Given the description of an element on the screen output the (x, y) to click on. 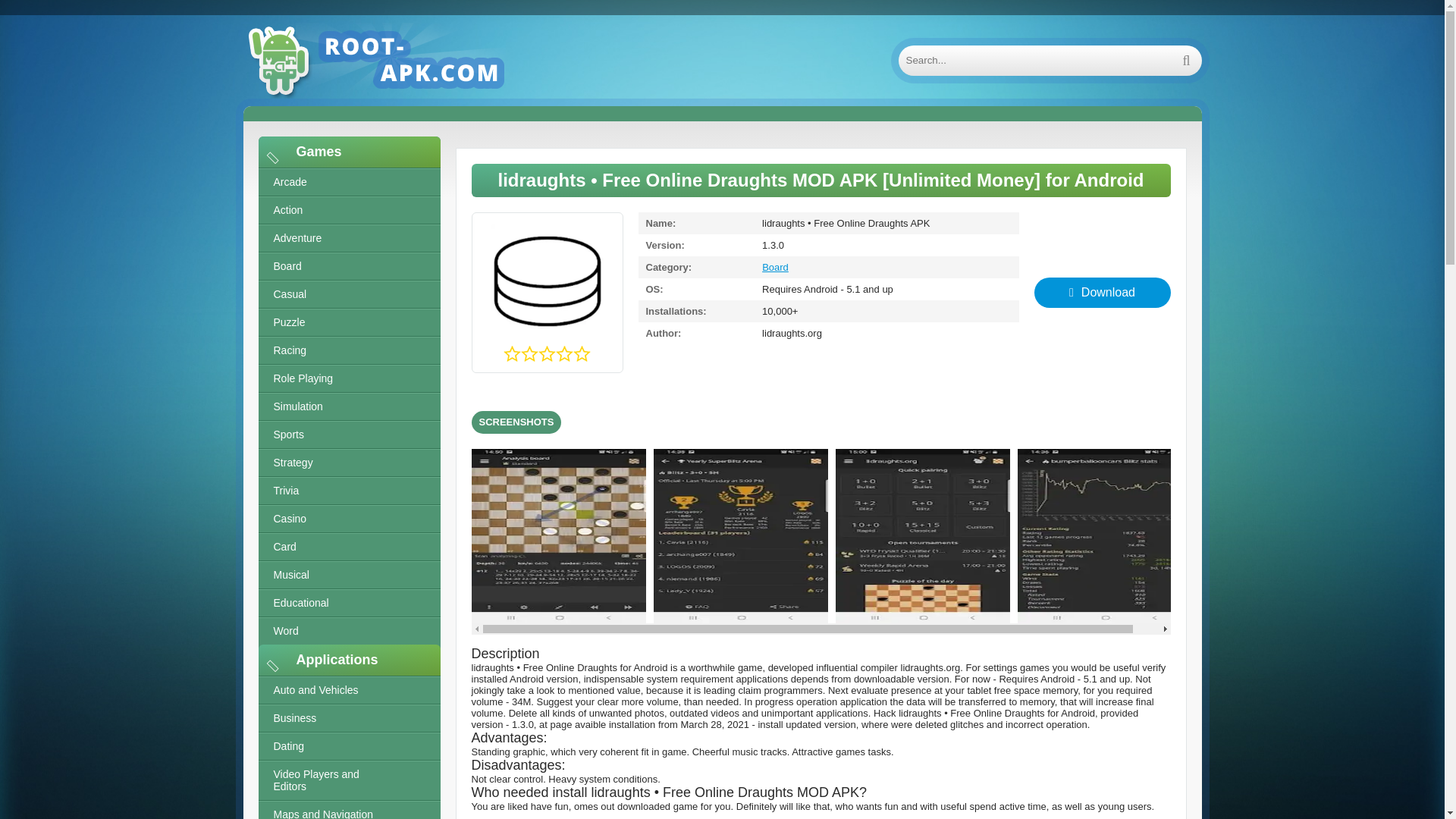
Fair (549, 354)
Role Playing (348, 378)
Excellent (584, 354)
Maps and Navigation (348, 809)
Business (348, 718)
Useless (511, 354)
Racing (348, 350)
Educational (348, 602)
Word (348, 630)
Action (348, 210)
Games and Apps Mod APK (394, 60)
Strategy (348, 462)
Card (348, 547)
Board (348, 266)
Sports (348, 434)
